Given the description of an element on the screen output the (x, y) to click on. 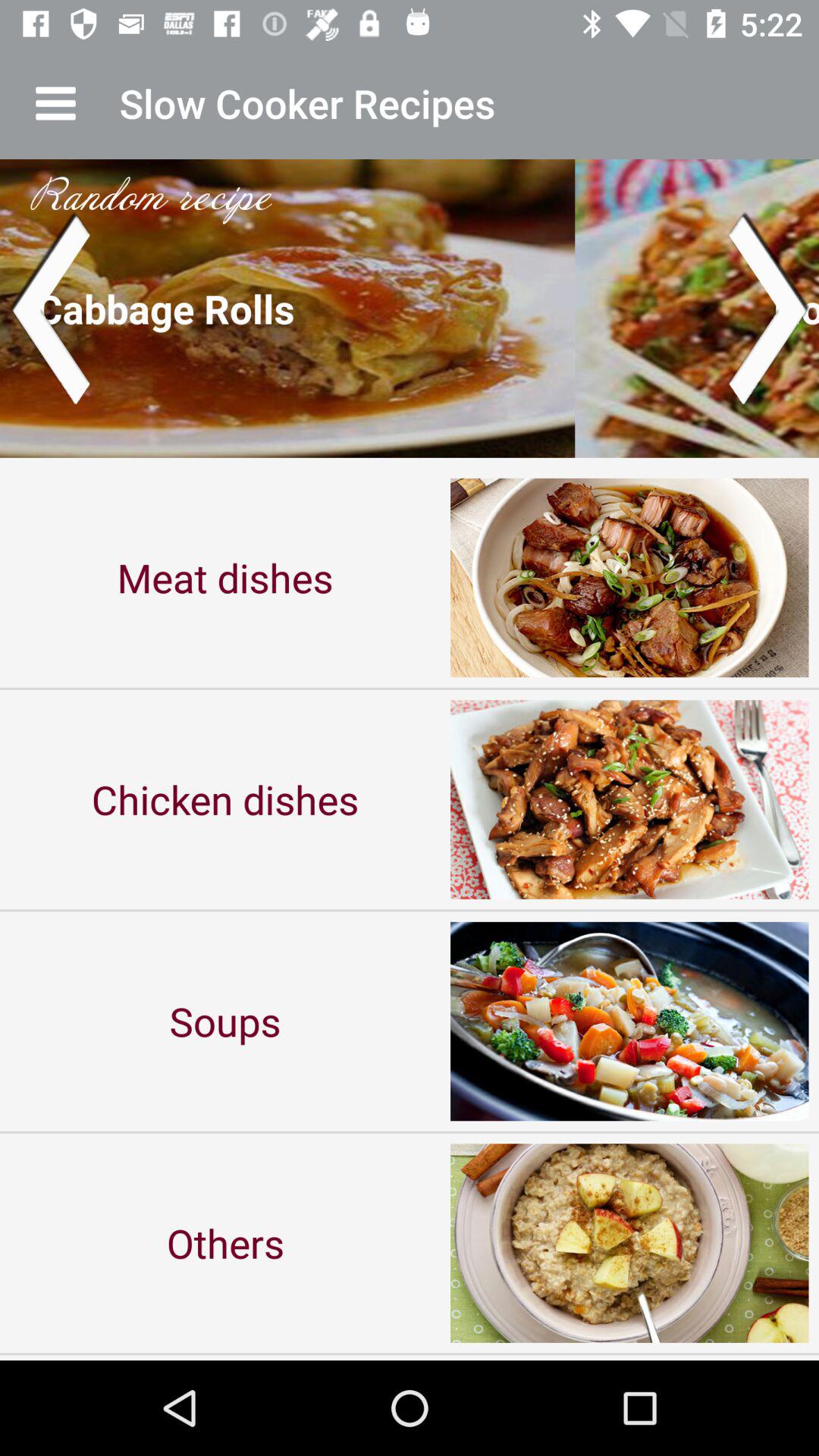
click the item below the meat dishes icon (225, 798)
